Given the description of an element on the screen output the (x, y) to click on. 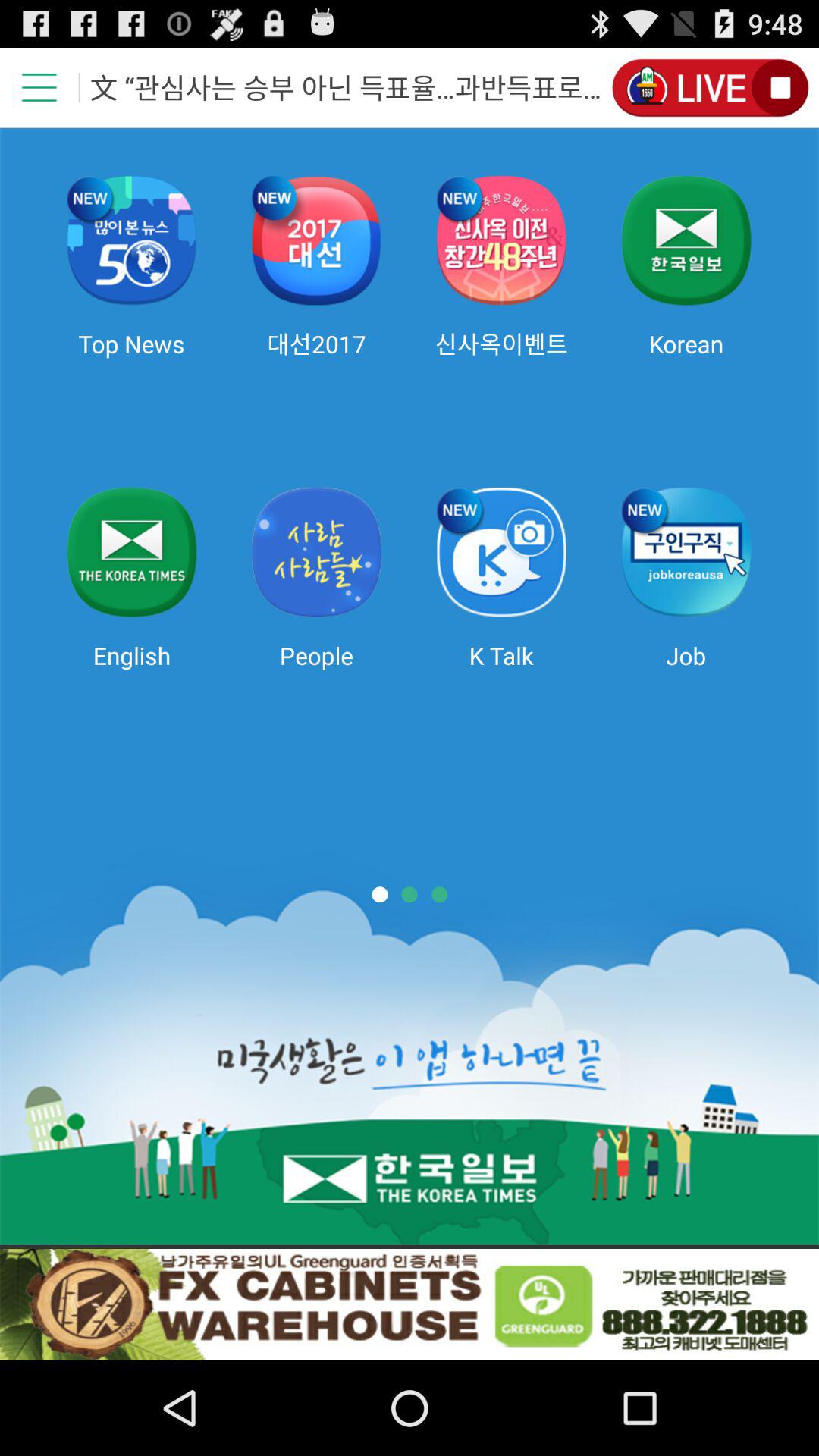
view advertisement (409, 1304)
